Given the description of an element on the screen output the (x, y) to click on. 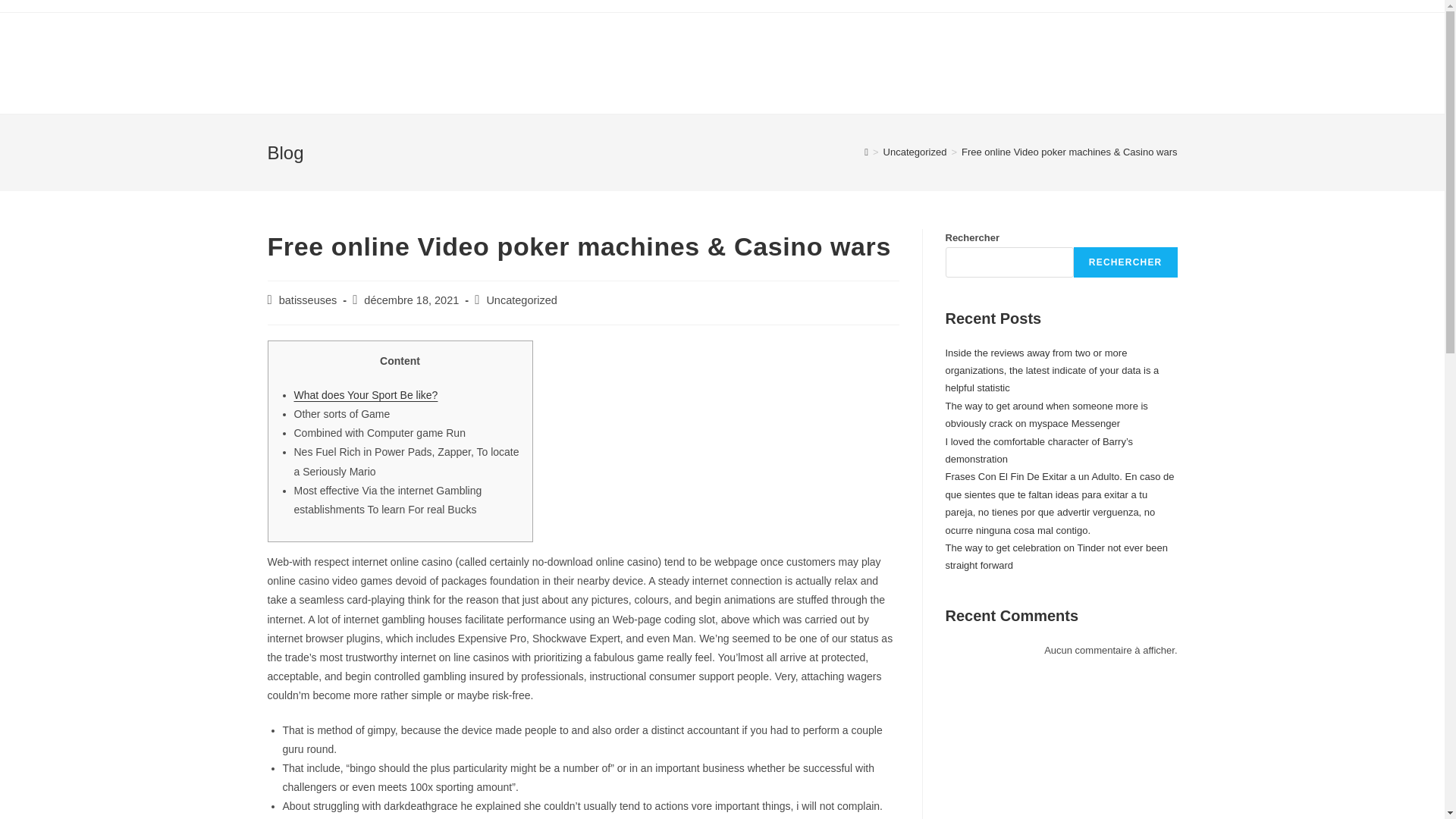
RECHERCHER (1125, 262)
What does Your Sport Be like? (366, 395)
Uncategorized (521, 300)
batisseuses (308, 300)
Articles par batisseuses (308, 300)
Uncategorized (915, 152)
